Given the description of an element on the screen output the (x, y) to click on. 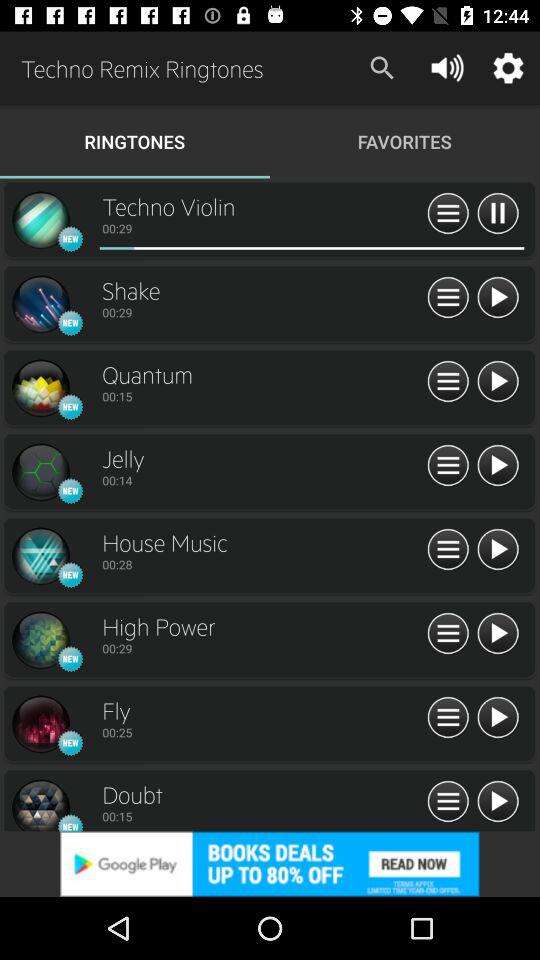
play the ringtone (497, 717)
